Given the description of an element on the screen output the (x, y) to click on. 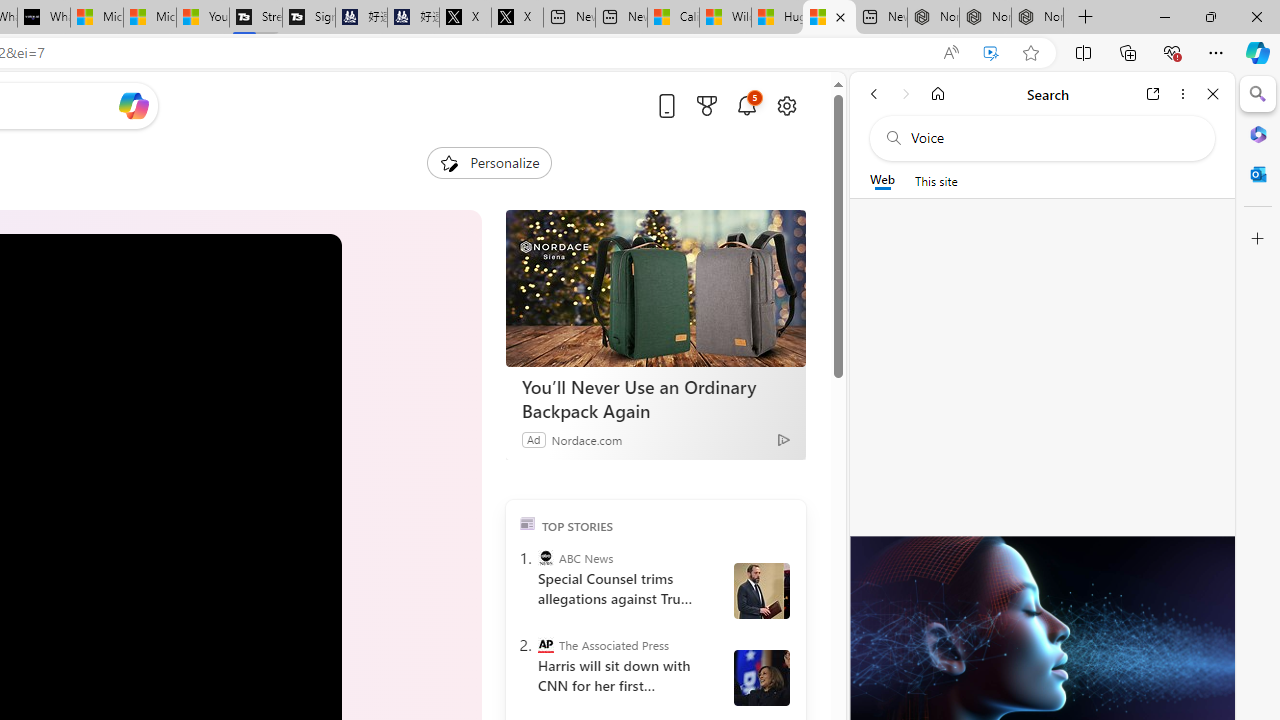
Search the web (1051, 137)
The Associated Press (545, 645)
Huge shark washes ashore at New York City beach | Watch (829, 17)
Open link in new tab (1153, 93)
Nordace - Siena Pro 15 Essential Set (1037, 17)
Customize (1258, 239)
Home (938, 93)
ABC News (545, 557)
Nordace.com (586, 439)
